Given the description of an element on the screen output the (x, y) to click on. 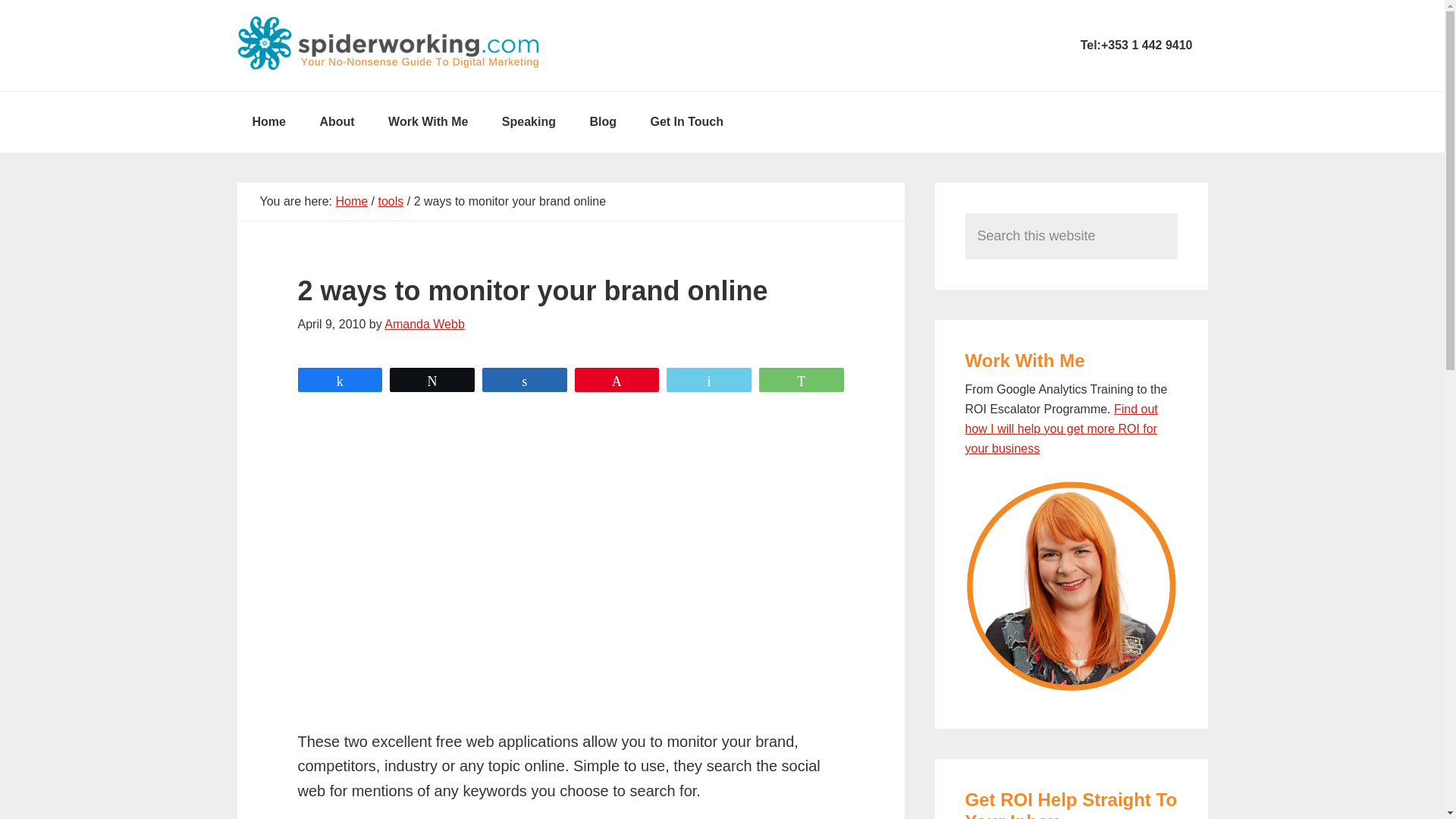
Amanda Webb (424, 323)
Home (267, 121)
tools (390, 201)
Get In Touch (686, 121)
Home (267, 121)
Work With Me (427, 121)
Home (351, 201)
